Given the description of an element on the screen output the (x, y) to click on. 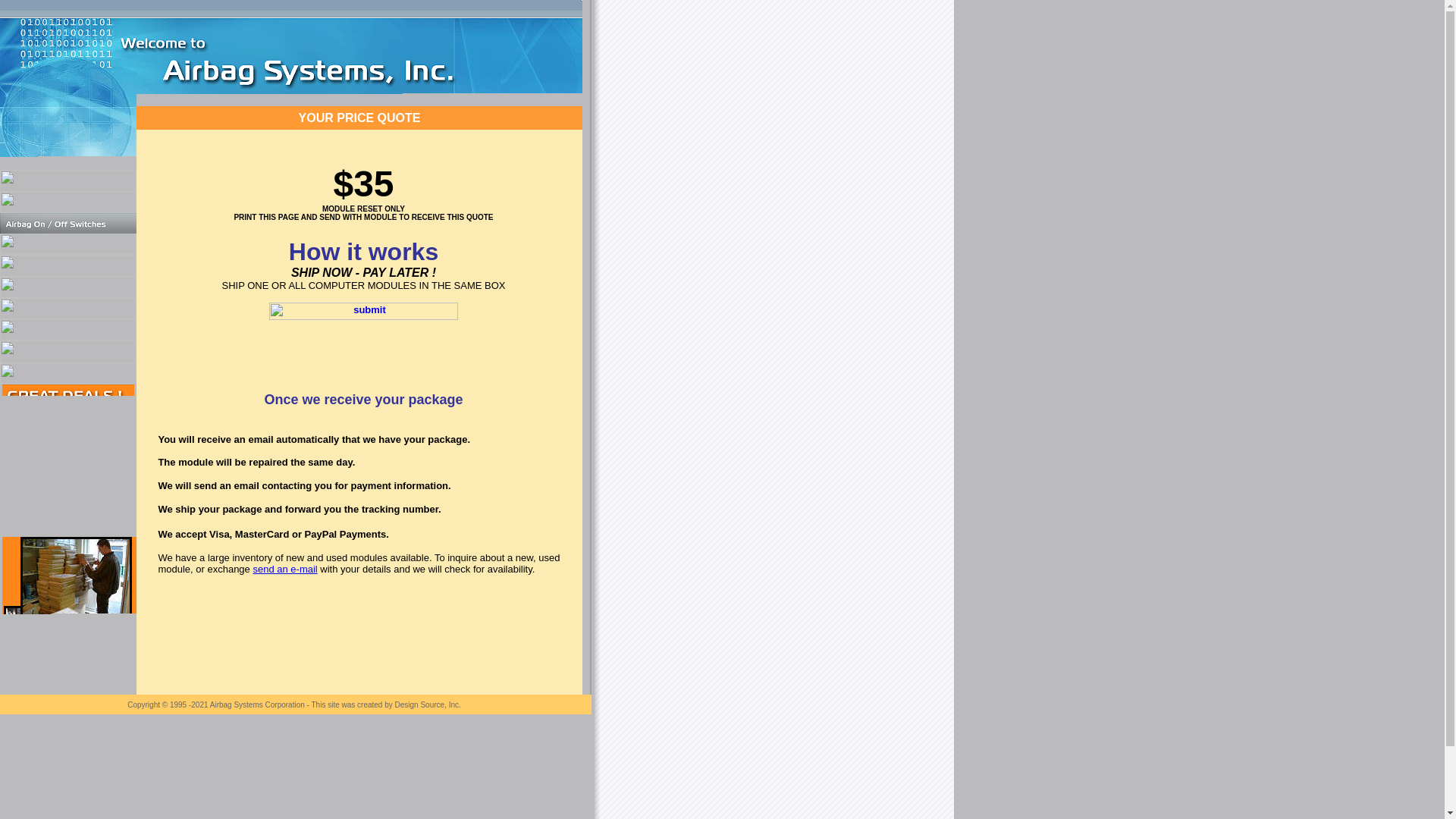
send an e-mail (284, 568)
